Given the description of an element on the screen output the (x, y) to click on. 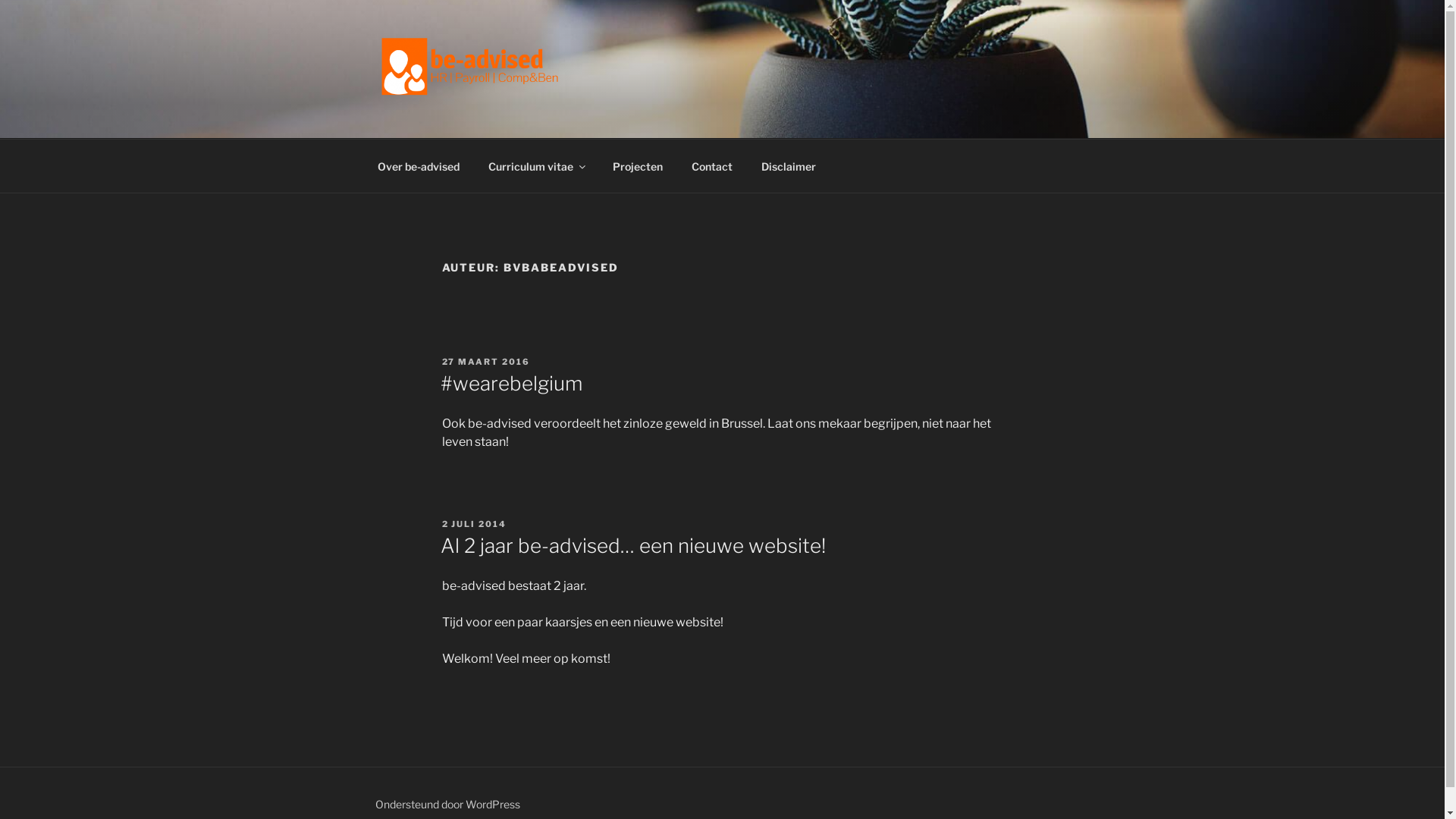
Contact Element type: text (711, 165)
Projecten Element type: text (637, 165)
27 MAART 2016 Element type: text (485, 361)
2 JULI 2014 Element type: text (473, 523)
Ondersteund door WordPress Element type: text (446, 803)
BE-ADVISED Element type: text (478, 118)
Over be-advised Element type: text (418, 165)
#wearebelgium Element type: text (510, 383)
Disclaimer Element type: text (787, 165)
Curriculum vitae Element type: text (535, 165)
